Given the description of an element on the screen output the (x, y) to click on. 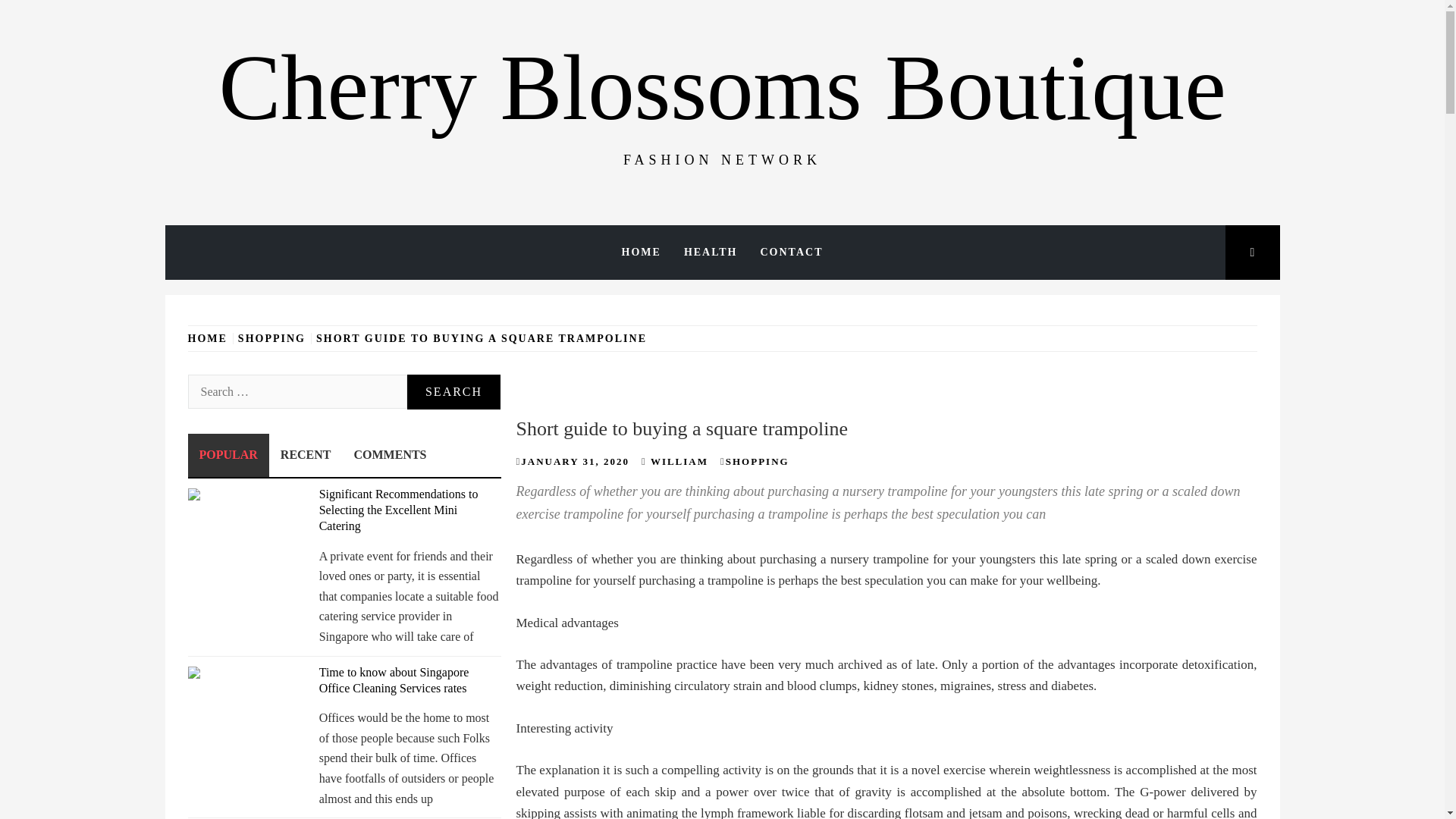
Cherry Blossoms Boutique (721, 87)
Search (453, 391)
Search (453, 391)
HEALTH (710, 252)
SHOPPING (757, 460)
SHOPPING (271, 337)
Search (646, 37)
SHORT GUIDE TO BUYING A SQUARE TRAMPOLINE (481, 337)
JANUARY 31, 2020 (574, 460)
CONTACT (791, 252)
WILLIAM (678, 460)
Time to know about Singapore Office Cleaning Services rates (393, 679)
HOME (641, 252)
Search (453, 391)
